Given the description of an element on the screen output the (x, y) to click on. 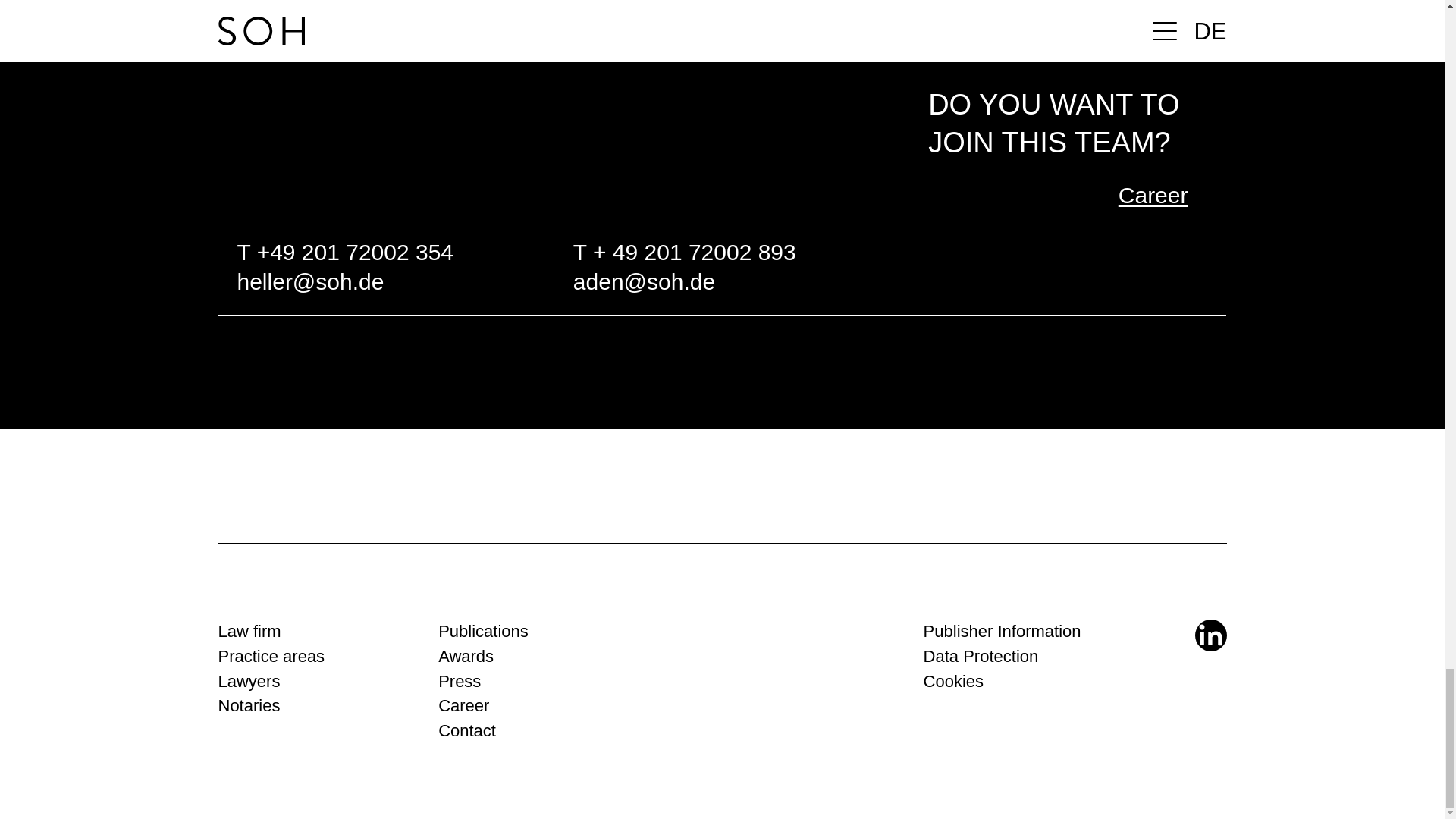
Dr. Timo Heller (385, 157)
